Given the description of an element on the screen output the (x, y) to click on. 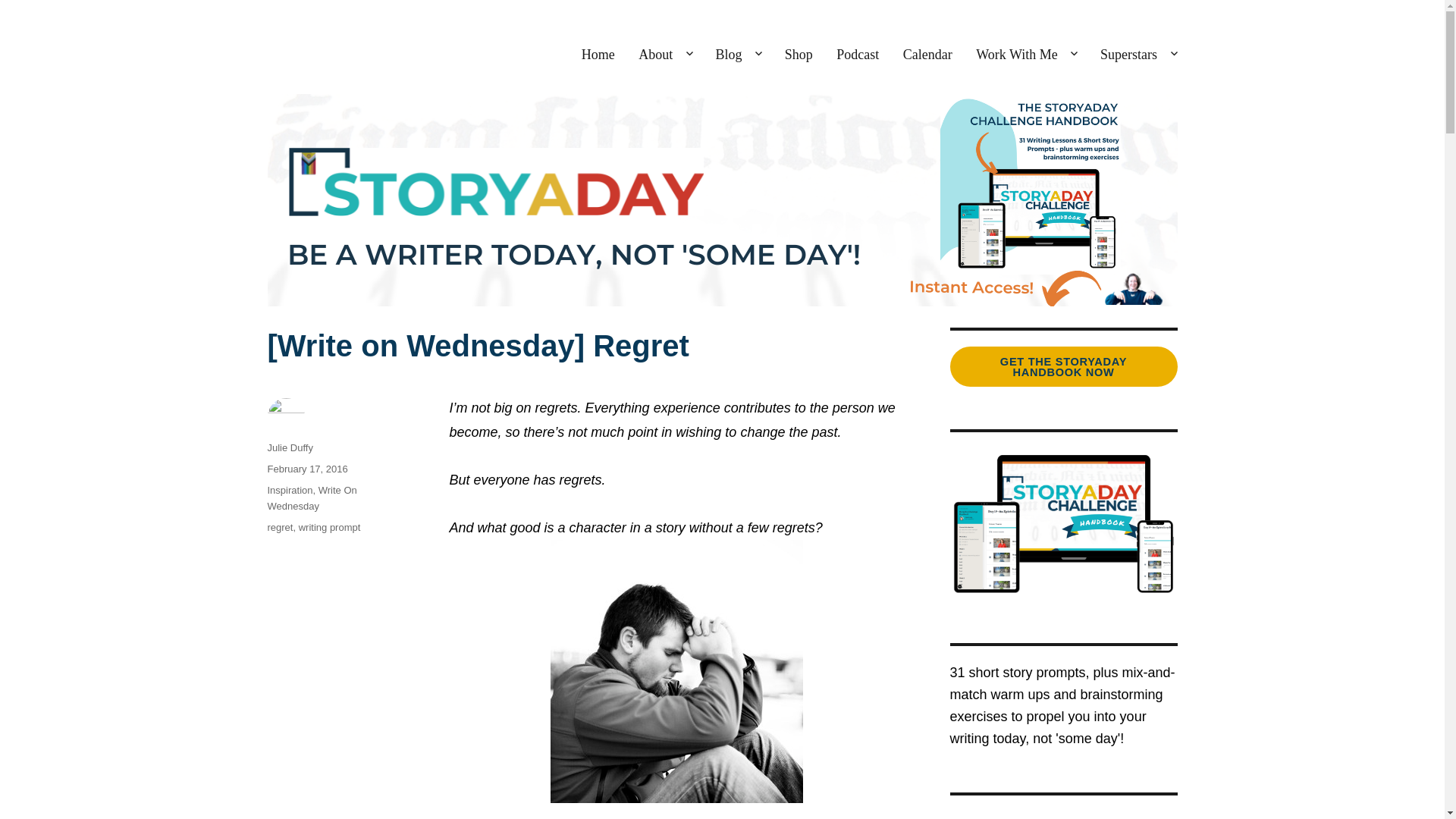
Regret - Contrast (676, 679)
Home (598, 54)
About (665, 54)
StoryADay (317, 50)
Blog (738, 54)
